Given the description of an element on the screen output the (x, y) to click on. 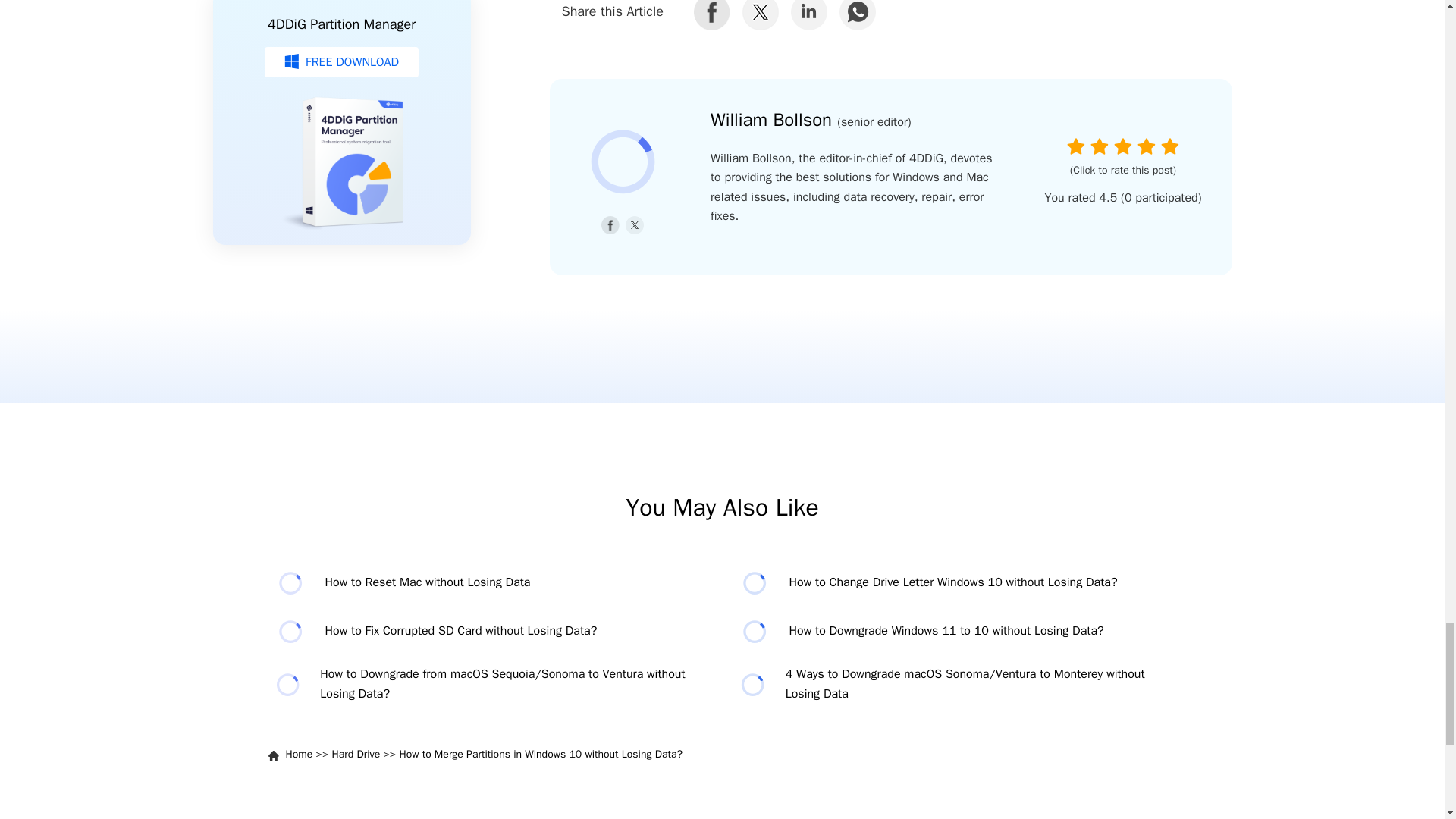
How to Reset Mac without Losing Data (489, 583)
2 (1099, 146)
How to Change Drive Letter Windows 10 without Losing Data? (953, 583)
5 (1169, 146)
4 (1146, 146)
How to Fix Corrupted SD Card without Losing Data? (489, 631)
How to Downgrade Windows 11 to 10 without Losing Data? (953, 631)
3 (1122, 146)
1 (1075, 146)
